Given the description of an element on the screen output the (x, y) to click on. 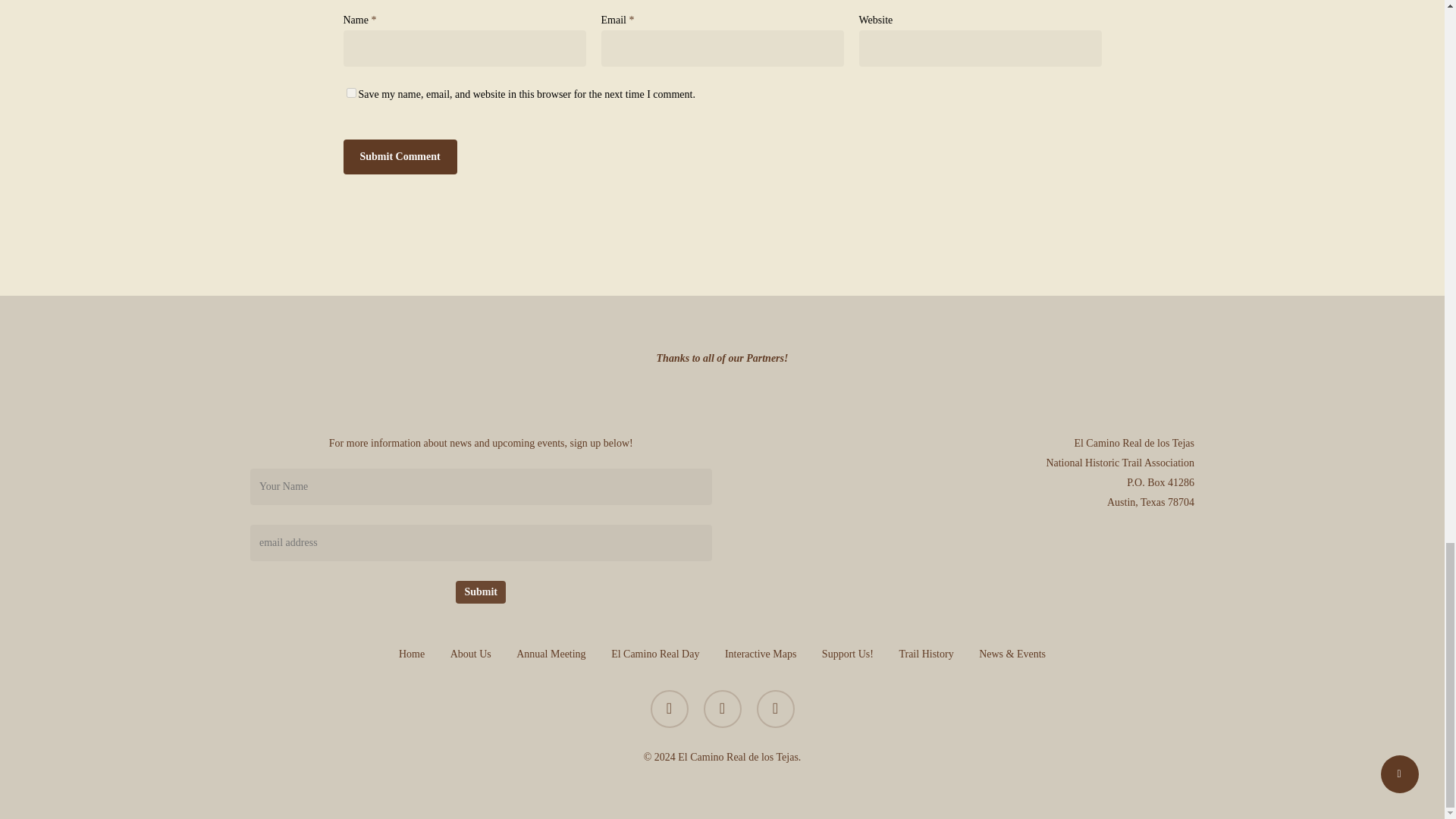
yes (350, 92)
Submit Comment (399, 156)
Submit (480, 591)
